Given the description of an element on the screen output the (x, y) to click on. 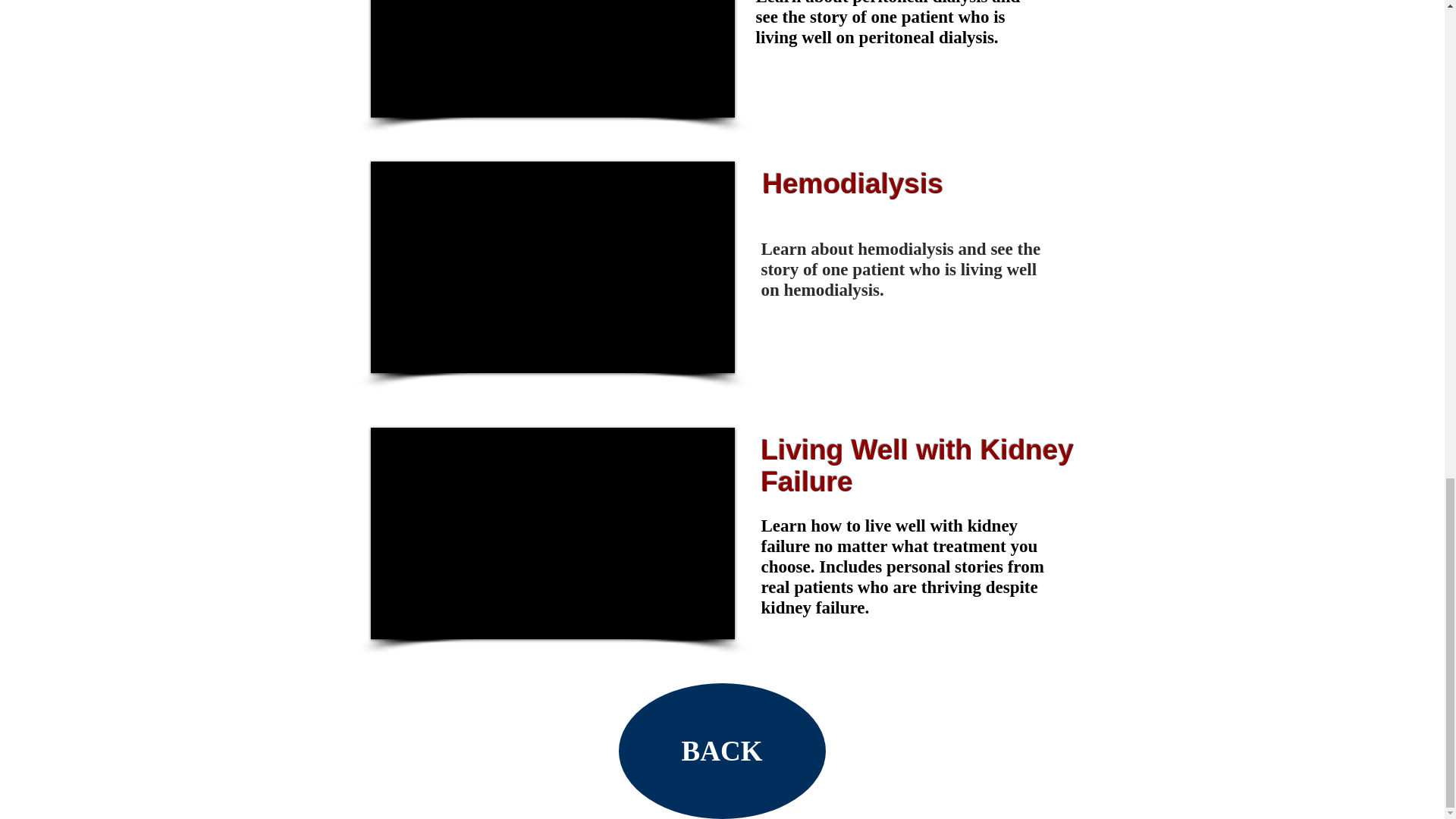
External YouTube (551, 533)
External YouTube (551, 267)
External YouTube (551, 58)
